Given the description of an element on the screen output the (x, y) to click on. 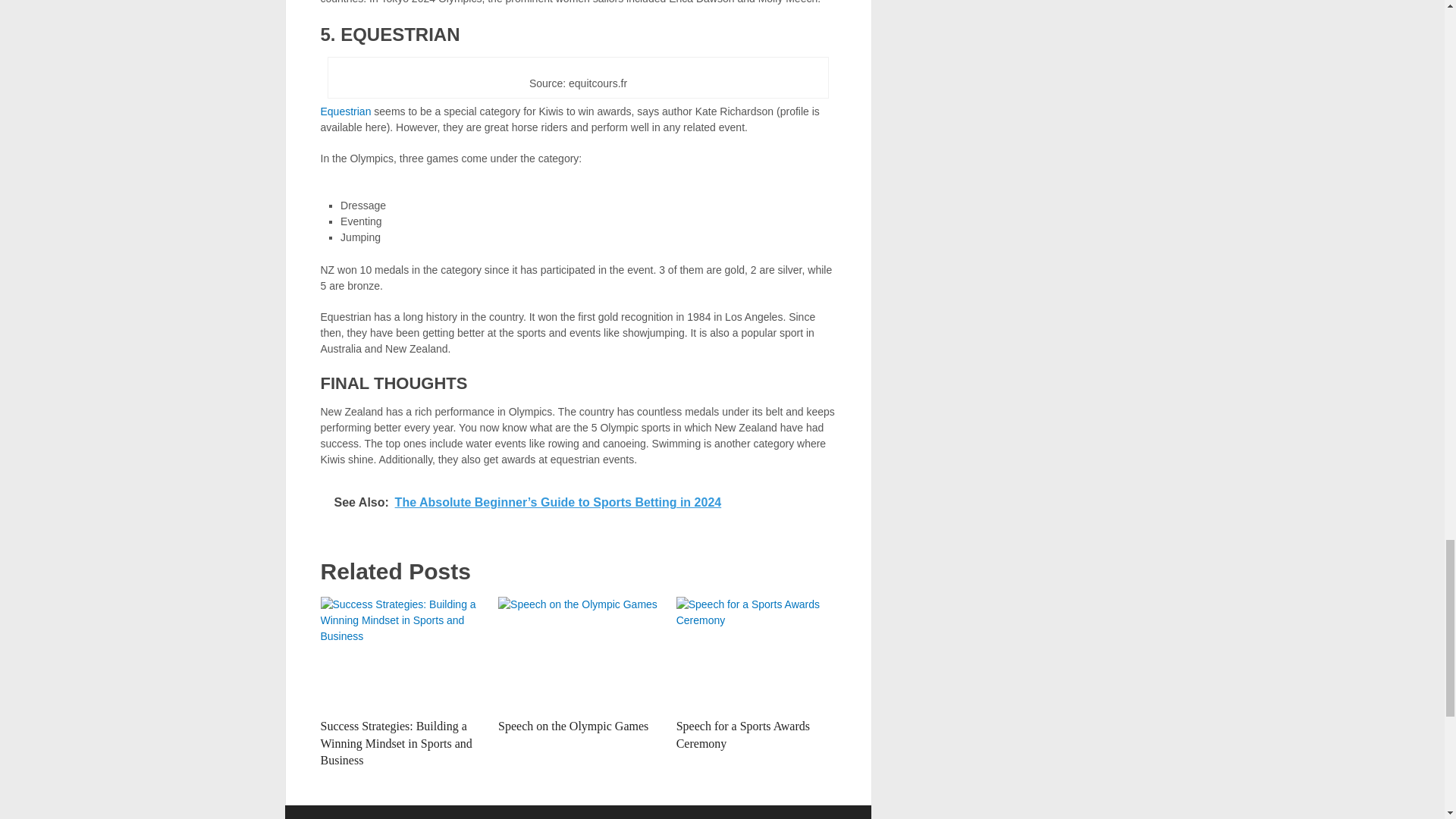
Speech on the Olympic Games (572, 725)
Speech for a Sports Awards Ceremony (743, 734)
Speech for a Sports Awards Ceremony (756, 653)
Speech on the Olympic Games (577, 653)
Speech on the Olympic Games (572, 725)
Equestrian (345, 111)
